Given the description of an element on the screen output the (x, y) to click on. 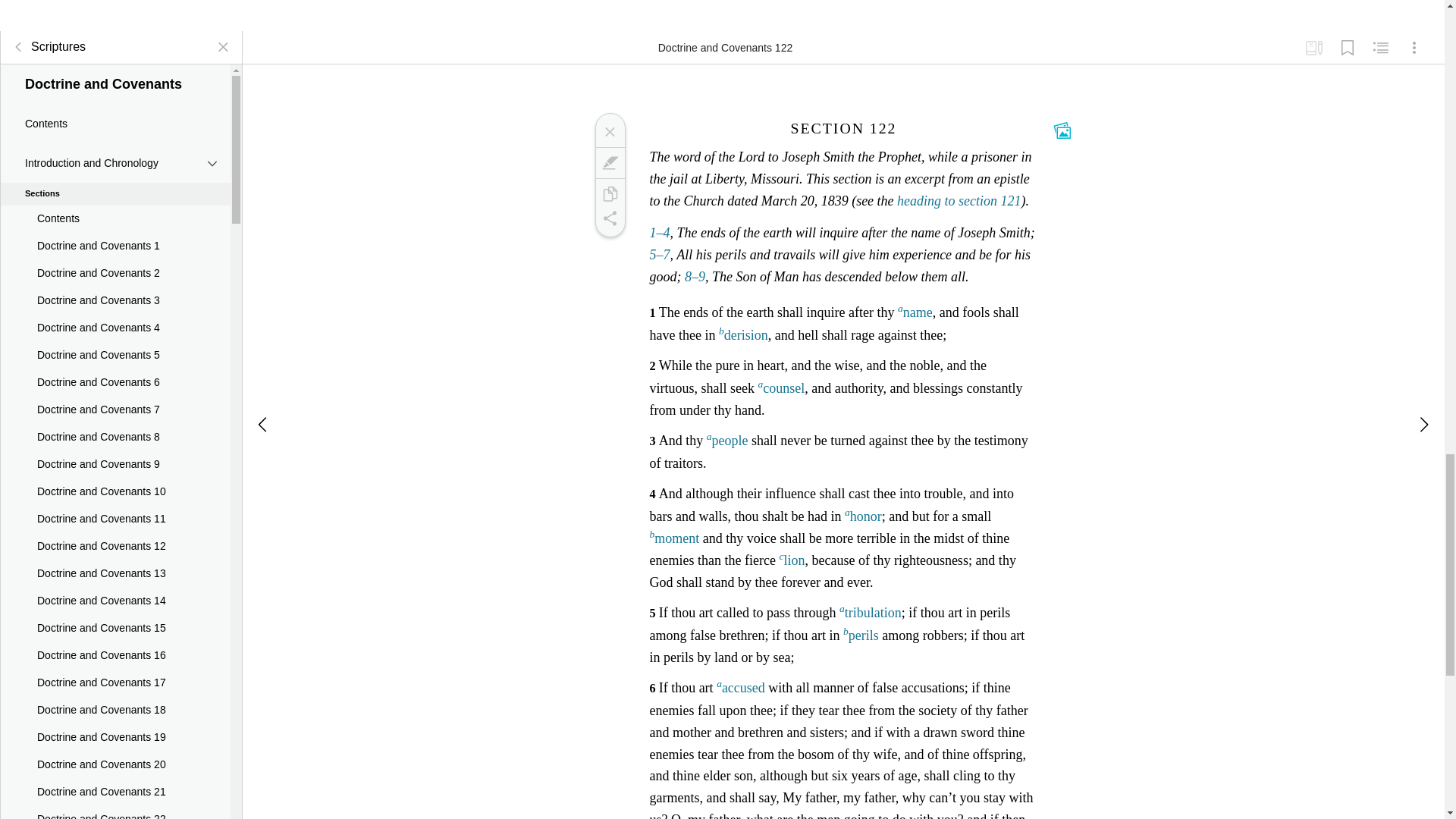
Close (608, 131)
Contents (115, 123)
Doctrine and Covenants 19 (115, 737)
Doctrine and Covenants 21 (115, 791)
Doctrine and Covenants 11 (115, 519)
Doctrine and Covenants 5 (115, 355)
Doctrine and Covenants 14 (115, 601)
Doctrine and Covenants 10 (115, 492)
Doctrine and Covenants 22 (115, 812)
Contents (115, 218)
